Given the description of an element on the screen output the (x, y) to click on. 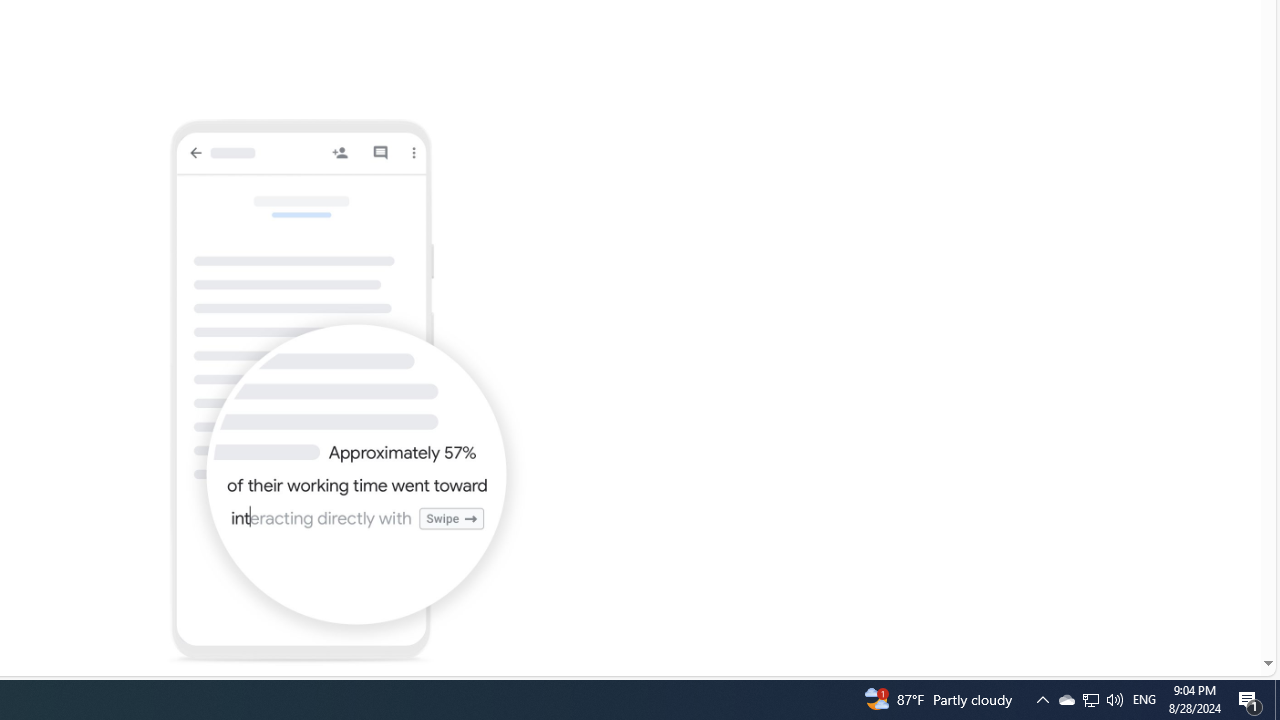
Docs write faster (346, 392)
